Given the description of an element on the screen output the (x, y) to click on. 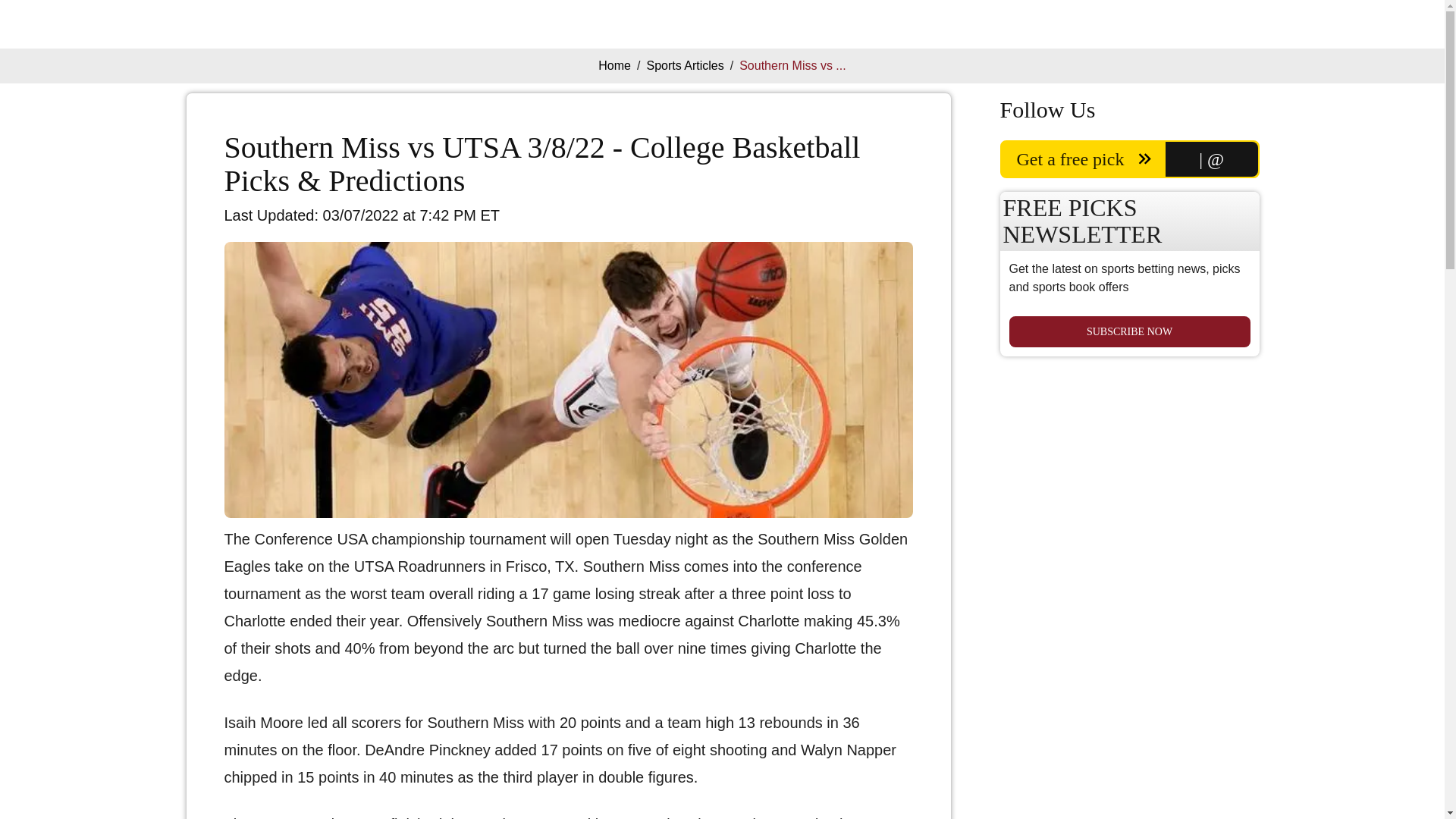
Southern Miss vs ... (792, 65)
Home (614, 65)
SUBSCRIBE NOW (1129, 331)
Sports Articles (684, 65)
